Given the description of an element on the screen output the (x, y) to click on. 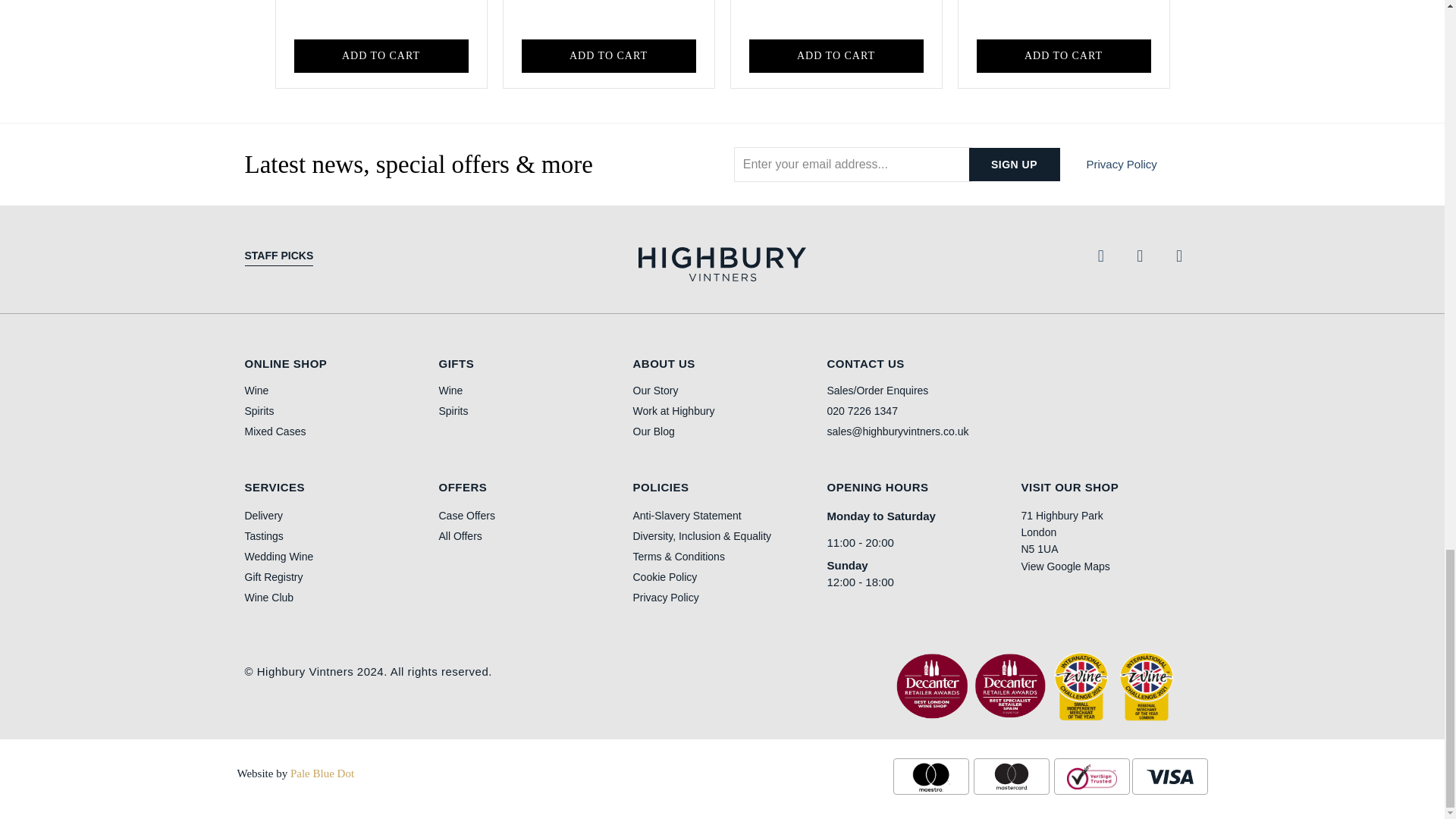
Sign Up (1014, 164)
